Given the description of an element on the screen output the (x, y) to click on. 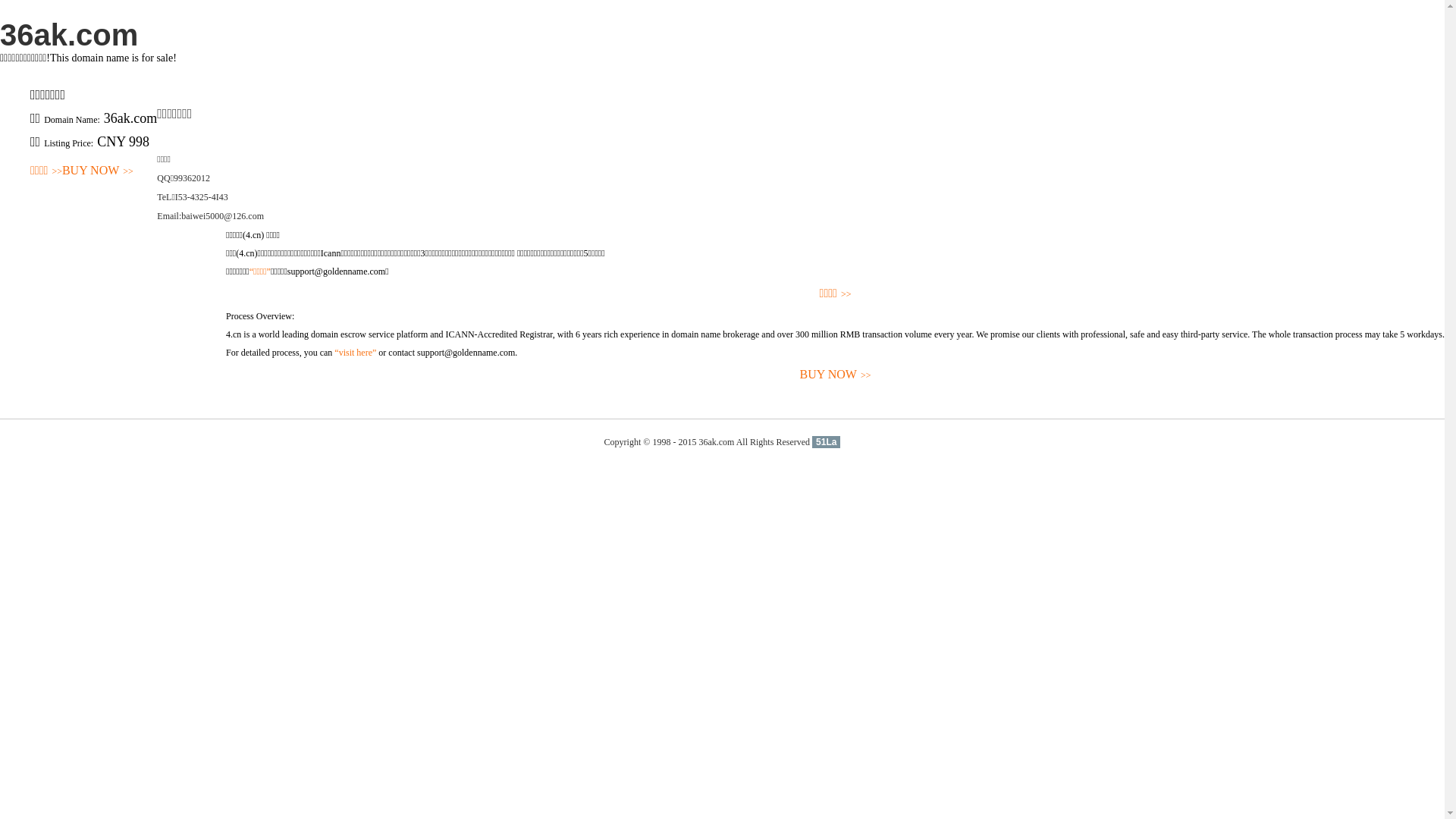
51La Element type: text (826, 441)
BUY NOW>> Element type: text (834, 374)
BUY NOW>> Element type: text (97, 170)
